Given the description of an element on the screen output the (x, y) to click on. 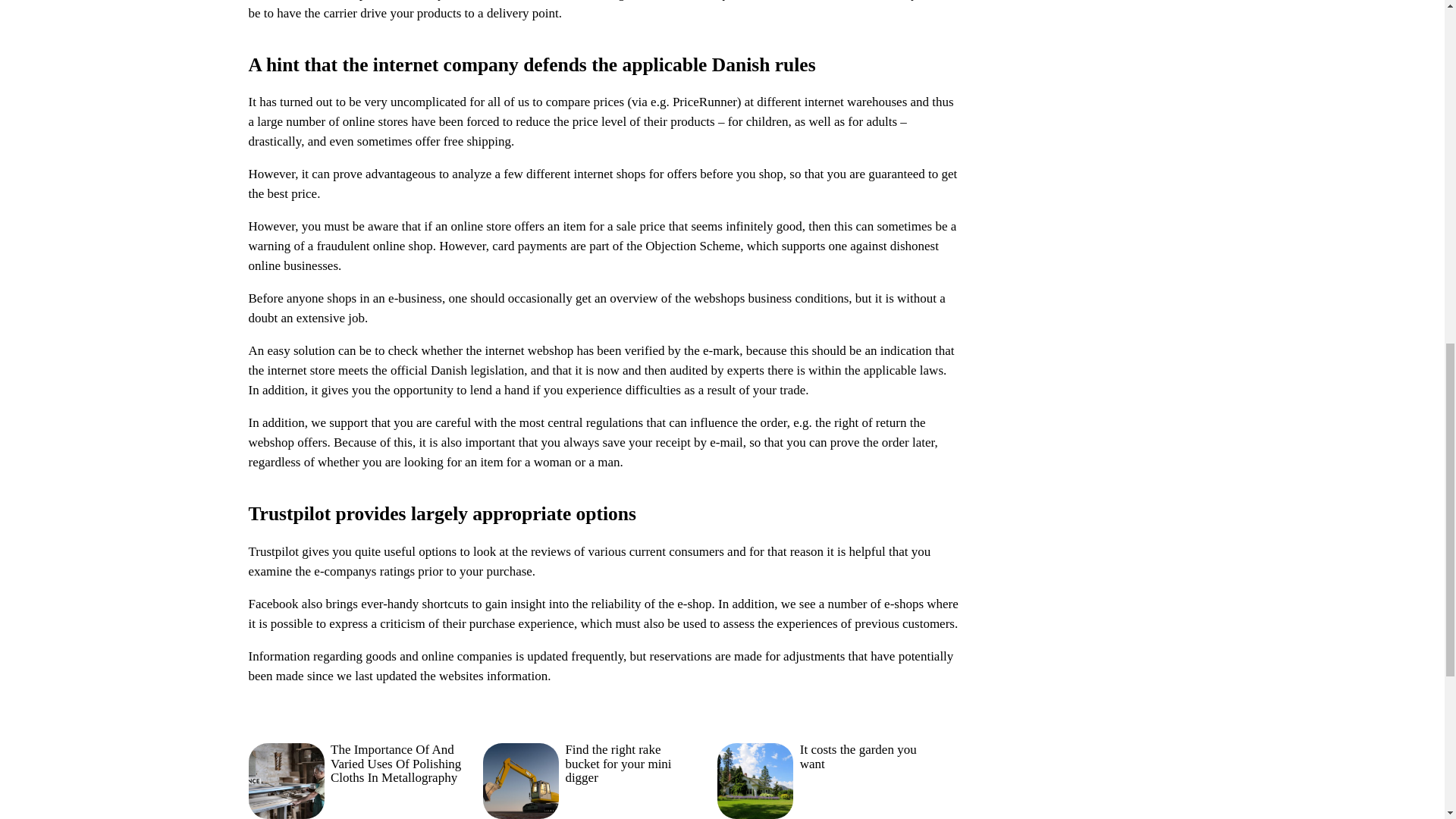
Find the right rake bucket for your mini digger (589, 778)
It costs the garden you want (823, 778)
